Given the description of an element on the screen output the (x, y) to click on. 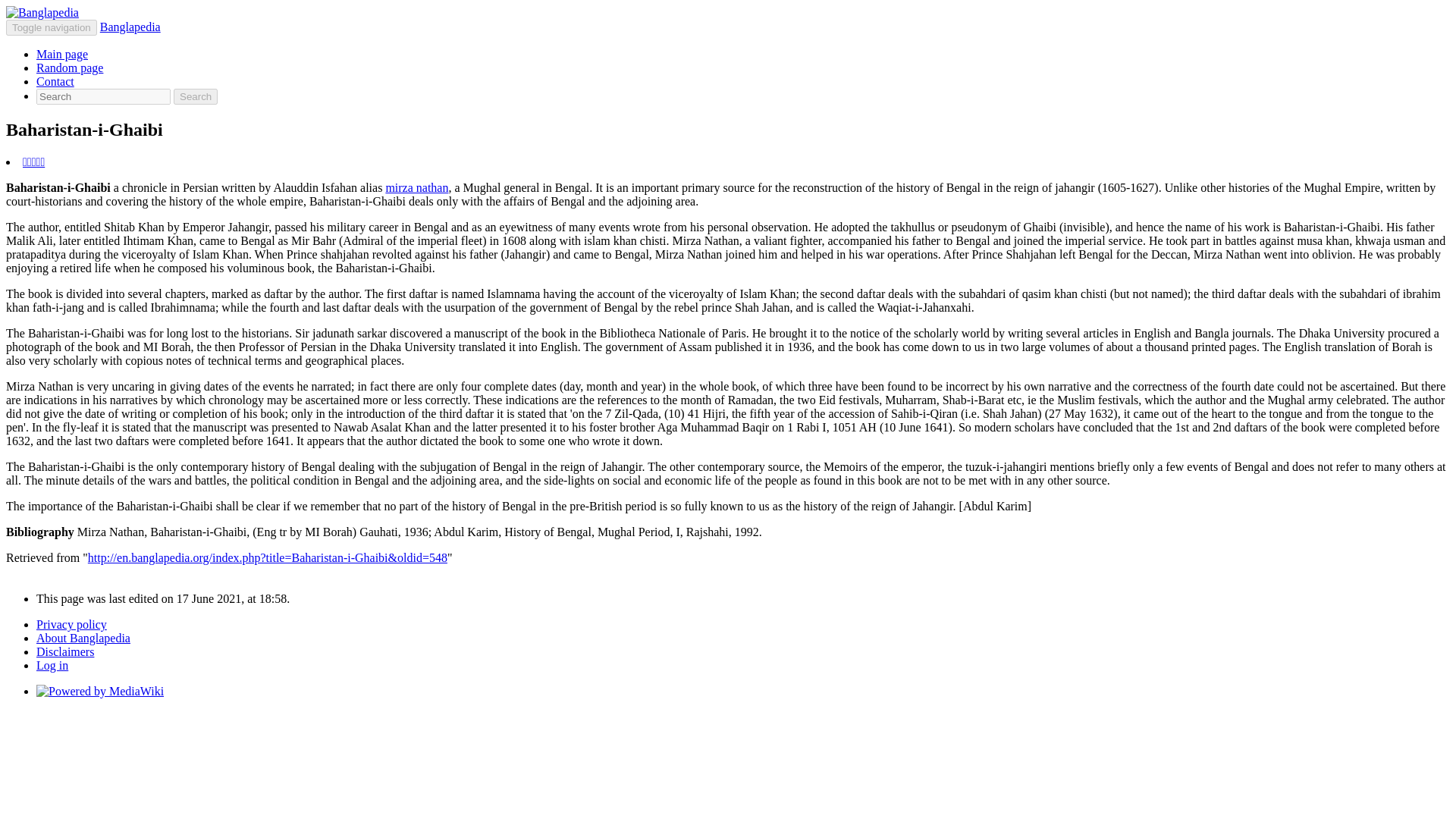
mirza nathan (416, 187)
Search the pages for this text (194, 96)
Visit the main page (41, 11)
Contact (55, 81)
Toggle navigation (51, 27)
Log in (52, 665)
Search (194, 96)
Random page (69, 67)
Search (194, 96)
Mirza Nathan (416, 187)
